Given the description of an element on the screen output the (x, y) to click on. 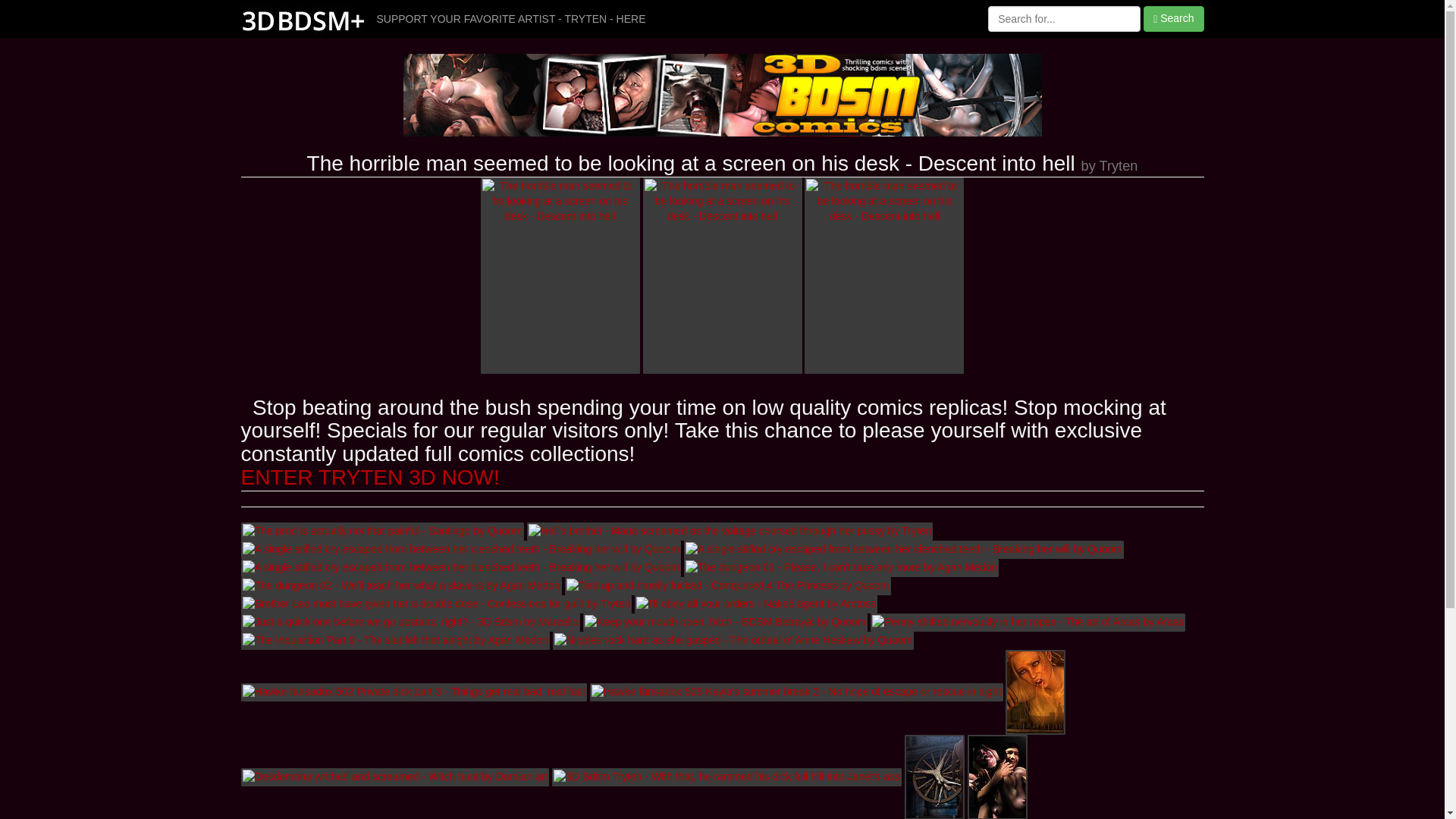
ENTER TRYTEN 3D NOW! Element type: text (370, 477)
Search Element type: text (1173, 18)
SUPPORT YOUR FAVORITE ARTIST - TRYTEN - HERE Element type: text (511, 18)
